Given the description of an element on the screen output the (x, y) to click on. 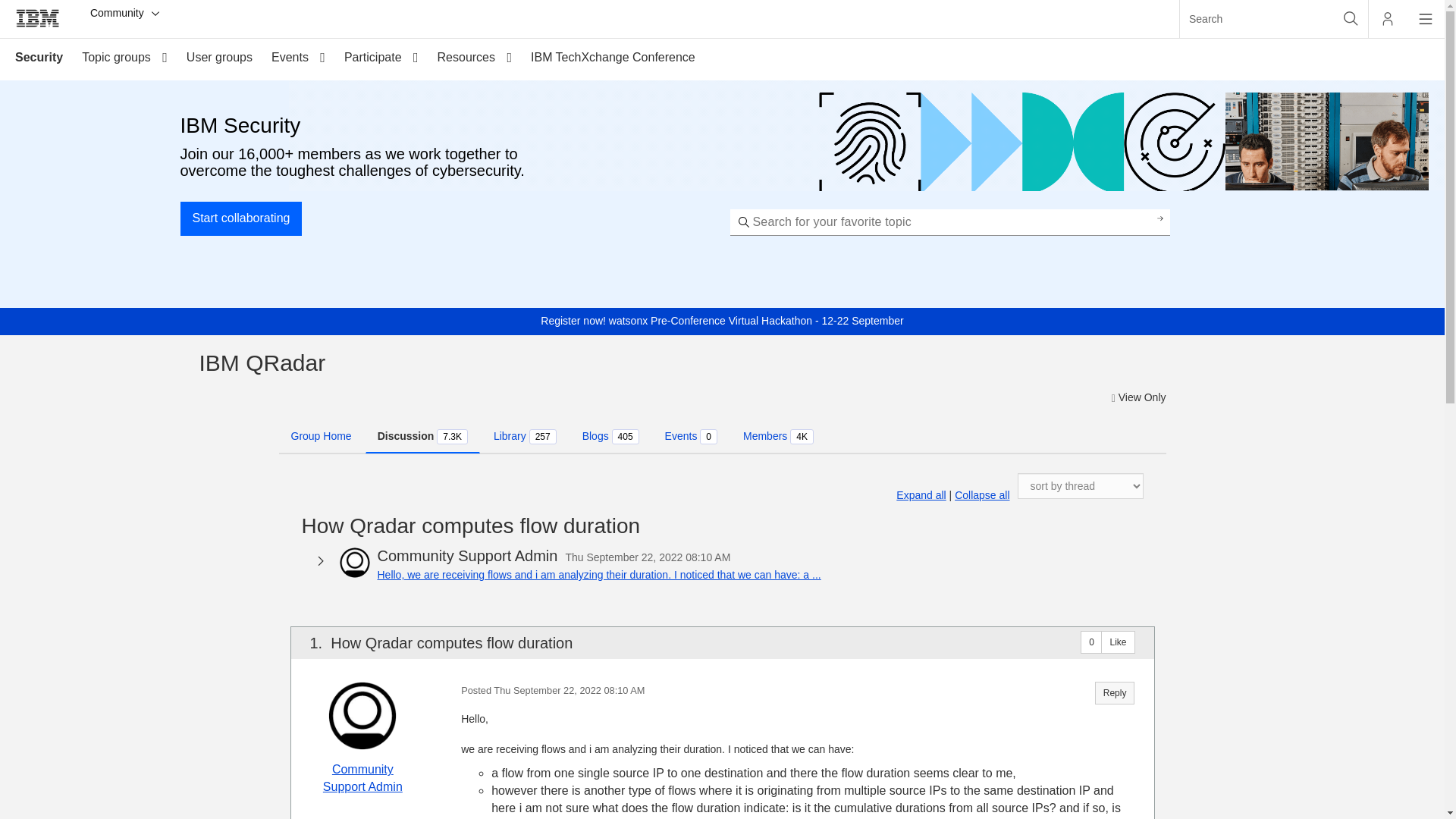
Like this item. (1117, 641)
Nbr of Likes (1091, 641)
Community (125, 13)
search (1256, 18)
